Given the description of an element on the screen output the (x, y) to click on. 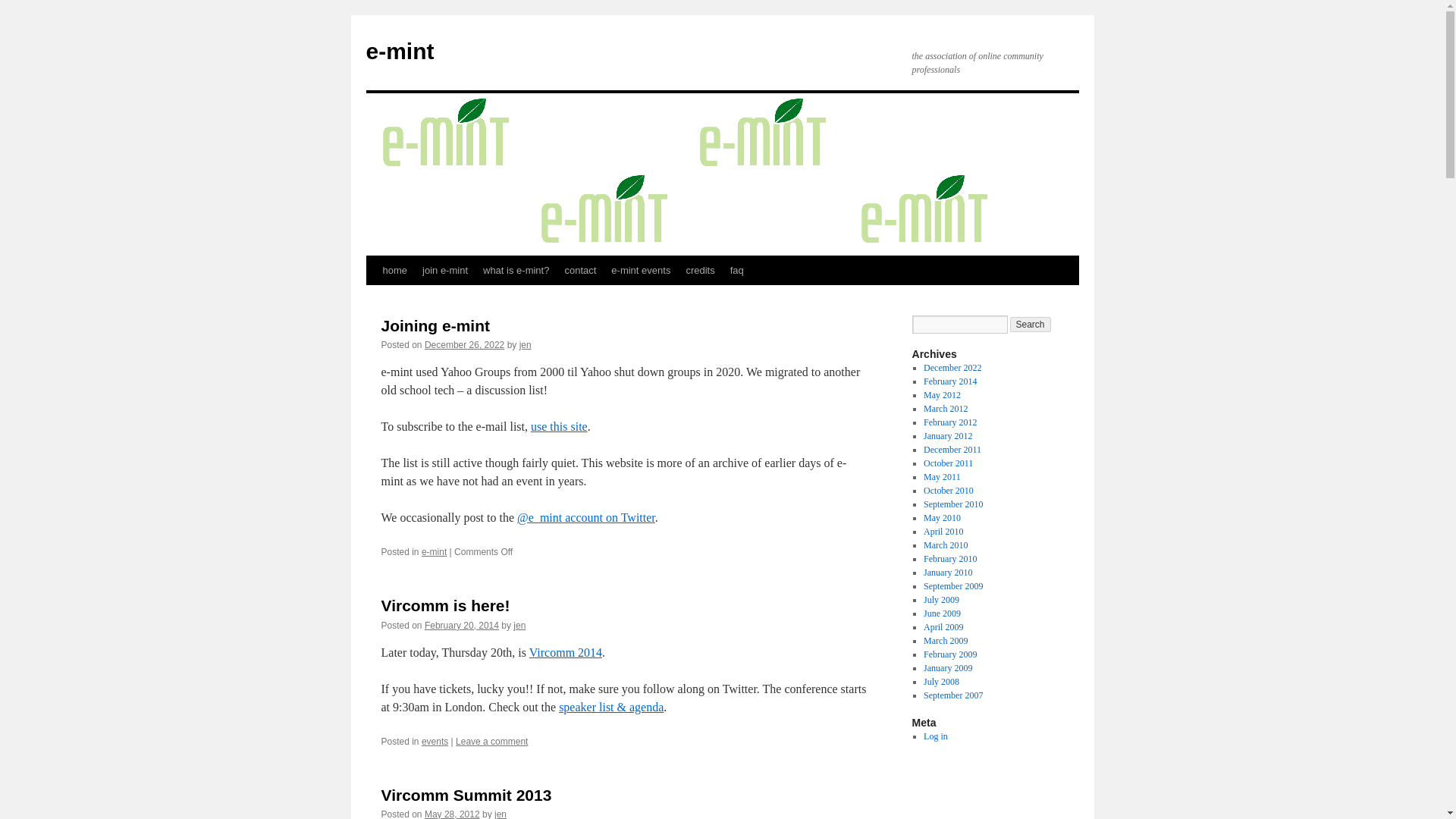
e-mint (399, 50)
3:36 pm (452, 814)
contact (580, 270)
credits (700, 270)
Vircomm 2014 Agenda (611, 707)
jen (525, 344)
4:40 am (462, 624)
Vircomm 2014 (565, 652)
use this site (559, 426)
Joining e-mint (434, 325)
